Given the description of an element on the screen output the (x, y) to click on. 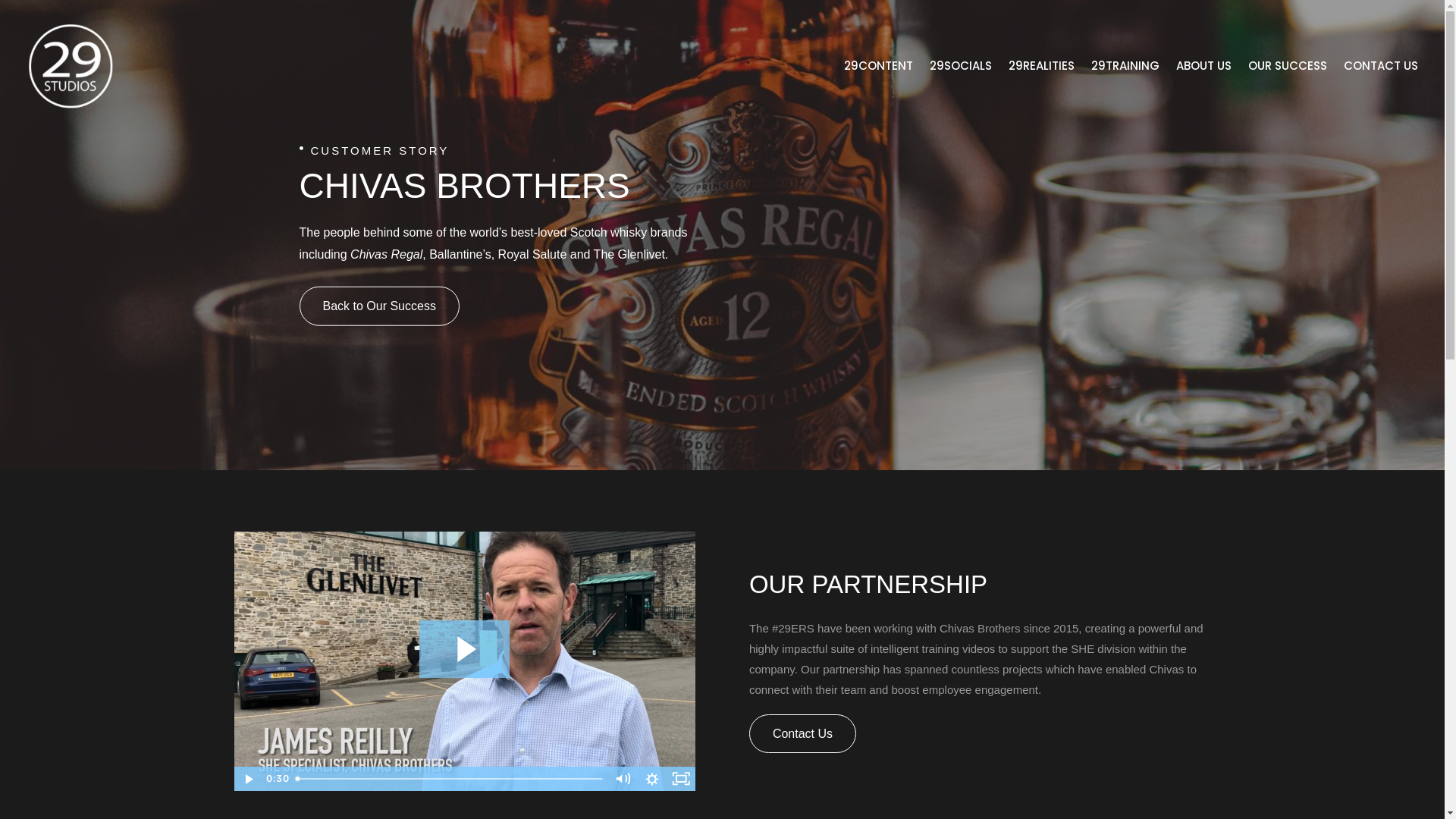
OUR SUCCESS Element type: text (1287, 65)
Back to Our Success Element type: text (378, 305)
29REALITIES Element type: text (1041, 65)
29CONTENT Element type: text (878, 65)
Show settings menu Element type: hover (651, 778)
Fullscreen Element type: hover (680, 778)
29TRAINING Element type: text (1125, 65)
Play Video Element type: hover (247, 778)
Contact Us Element type: text (802, 733)
ABOUT US Element type: text (1203, 65)
CONTACT US Element type: text (1380, 65)
29SOCIALS Element type: text (960, 65)
Mute Element type: hover (622, 778)
